Given the description of an element on the screen output the (x, y) to click on. 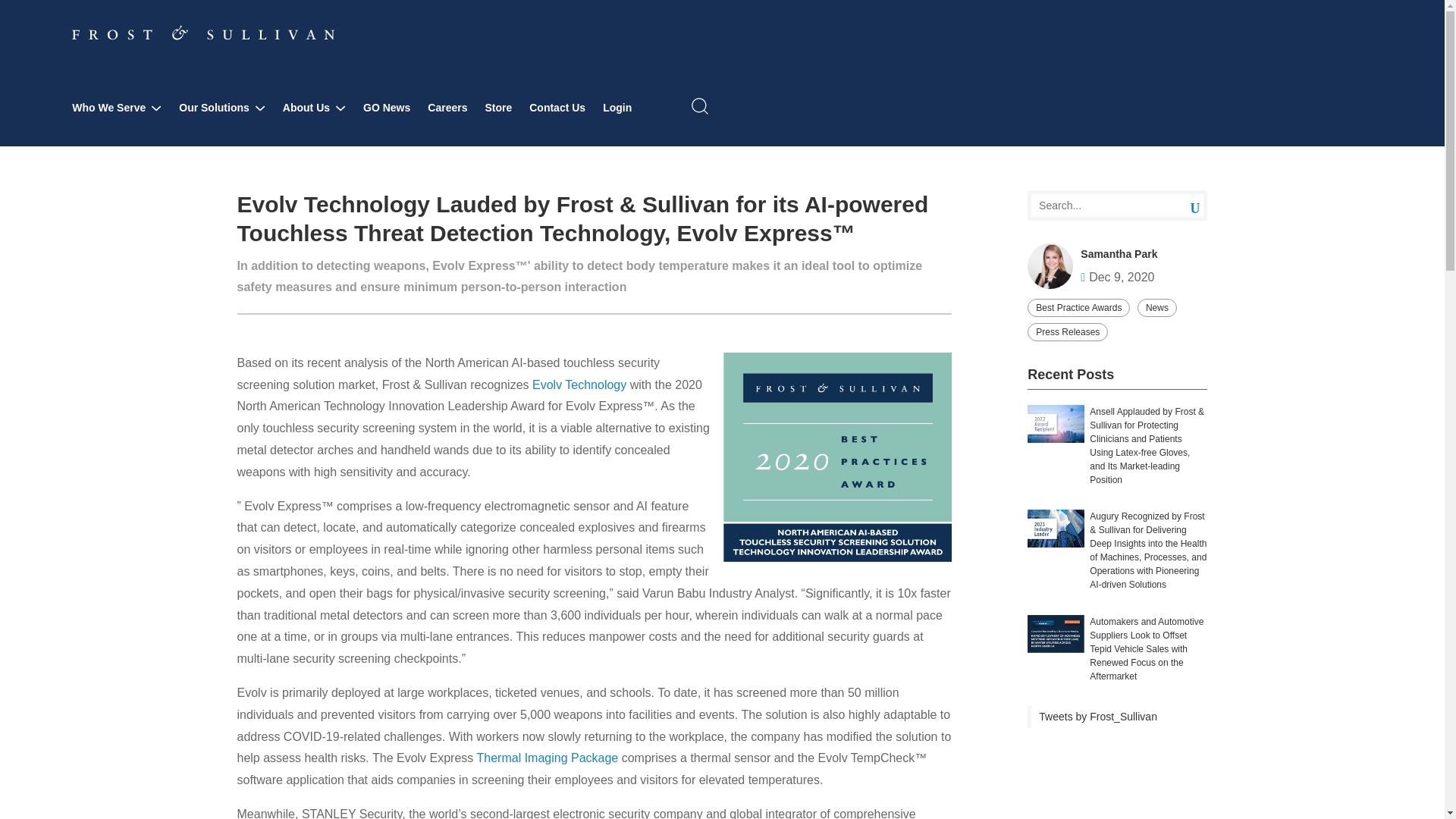
Search (1183, 205)
Who We Serve (116, 107)
